Given the description of an element on the screen output the (x, y) to click on. 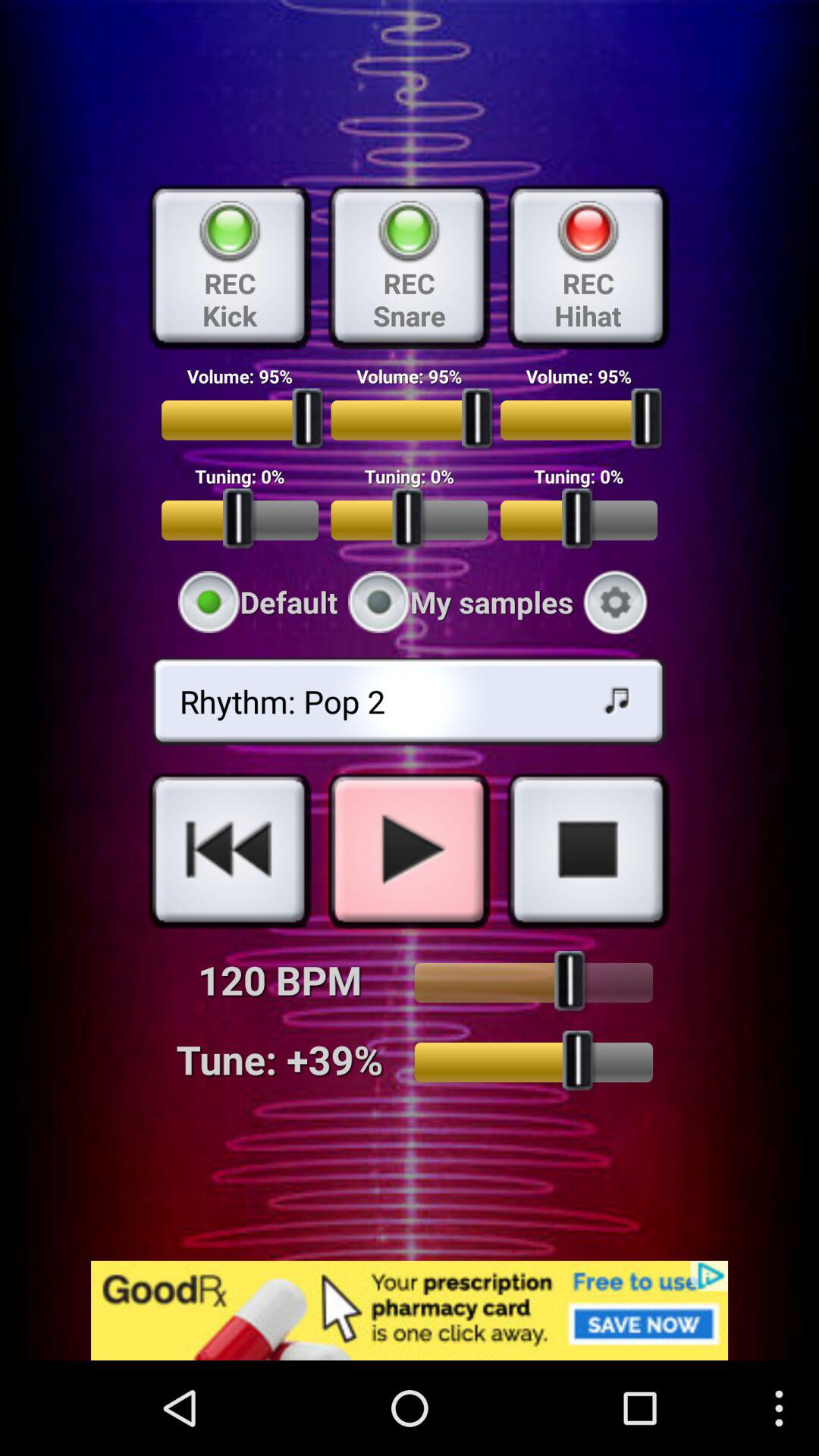
go to previous (229, 850)
